Given the description of an element on the screen output the (x, y) to click on. 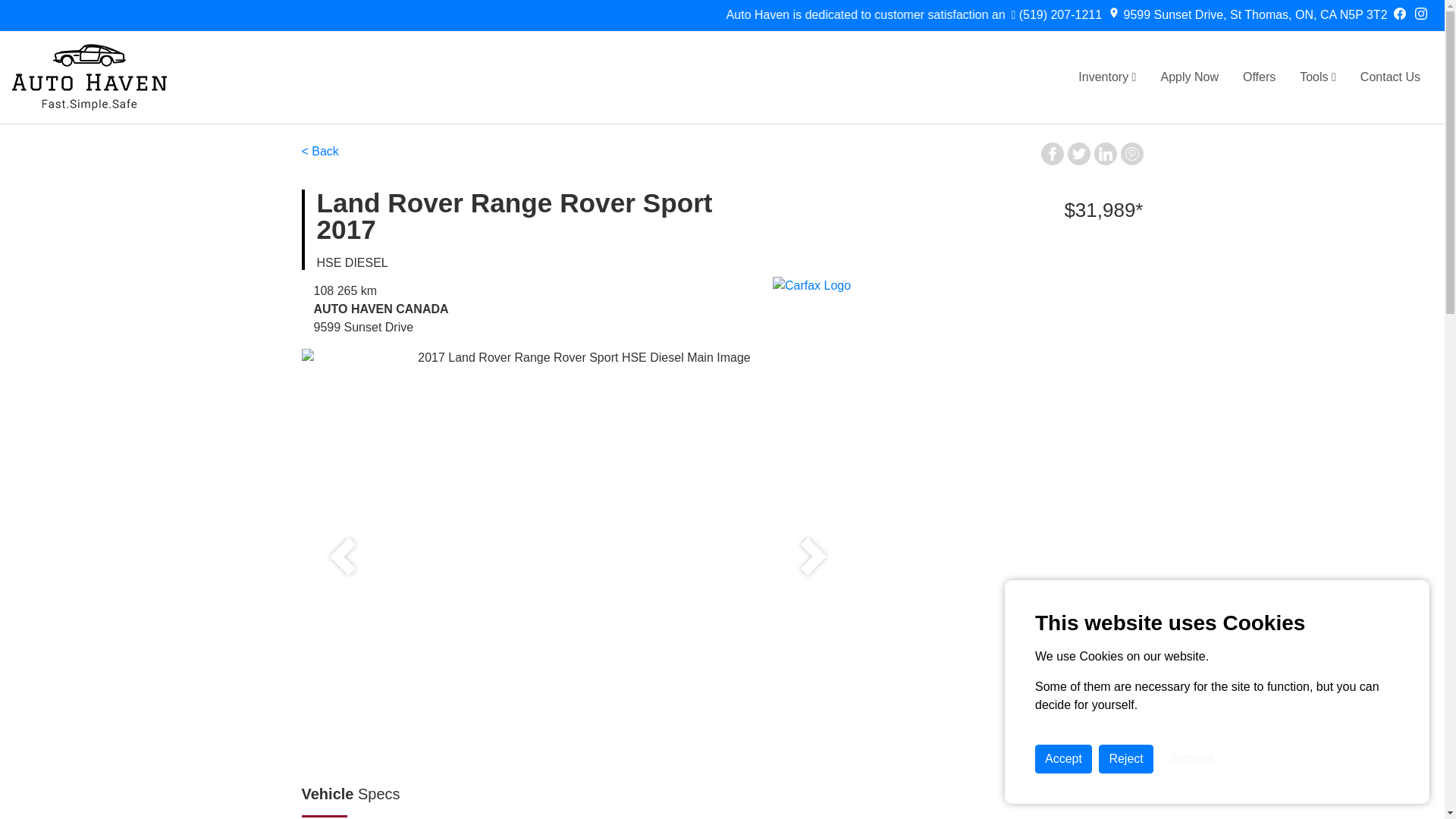
Contact Us (1390, 77)
Partager sur LinkedIn (1104, 153)
Partager sur Facebook (1051, 153)
Partager sur Twitter (1078, 153)
Offers (1258, 77)
Partager sur Pinterest (1131, 153)
9599 Sunset Drive, St Thomas, ON, CA N5P 3T2 (1247, 14)
Inventory (1106, 77)
Apply Now (1189, 77)
Tools (1317, 77)
